Given the description of an element on the screen output the (x, y) to click on. 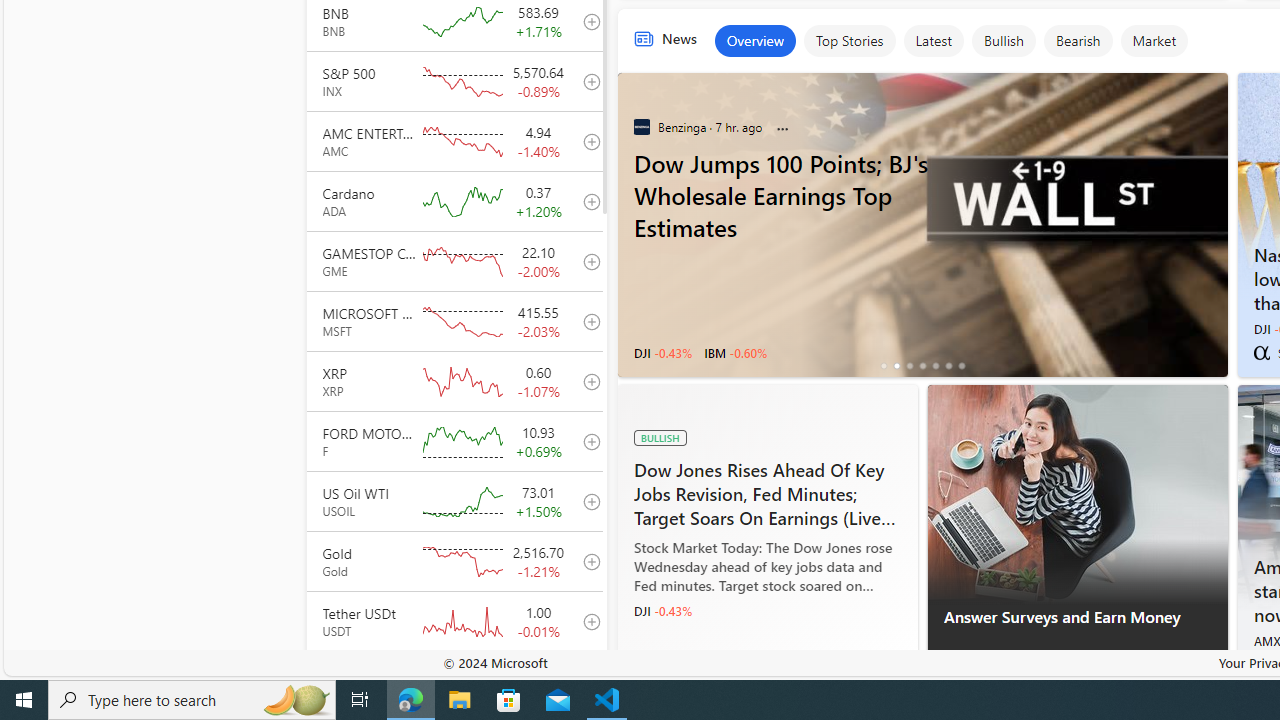
Bearish (1078, 40)
Seeking Alpha (1261, 352)
Market (1153, 40)
Answer Surveys and Earn Money (1077, 628)
Latest (932, 40)
Top Stories (848, 40)
DJI -0.43% (662, 611)
